Given the description of an element on the screen output the (x, y) to click on. 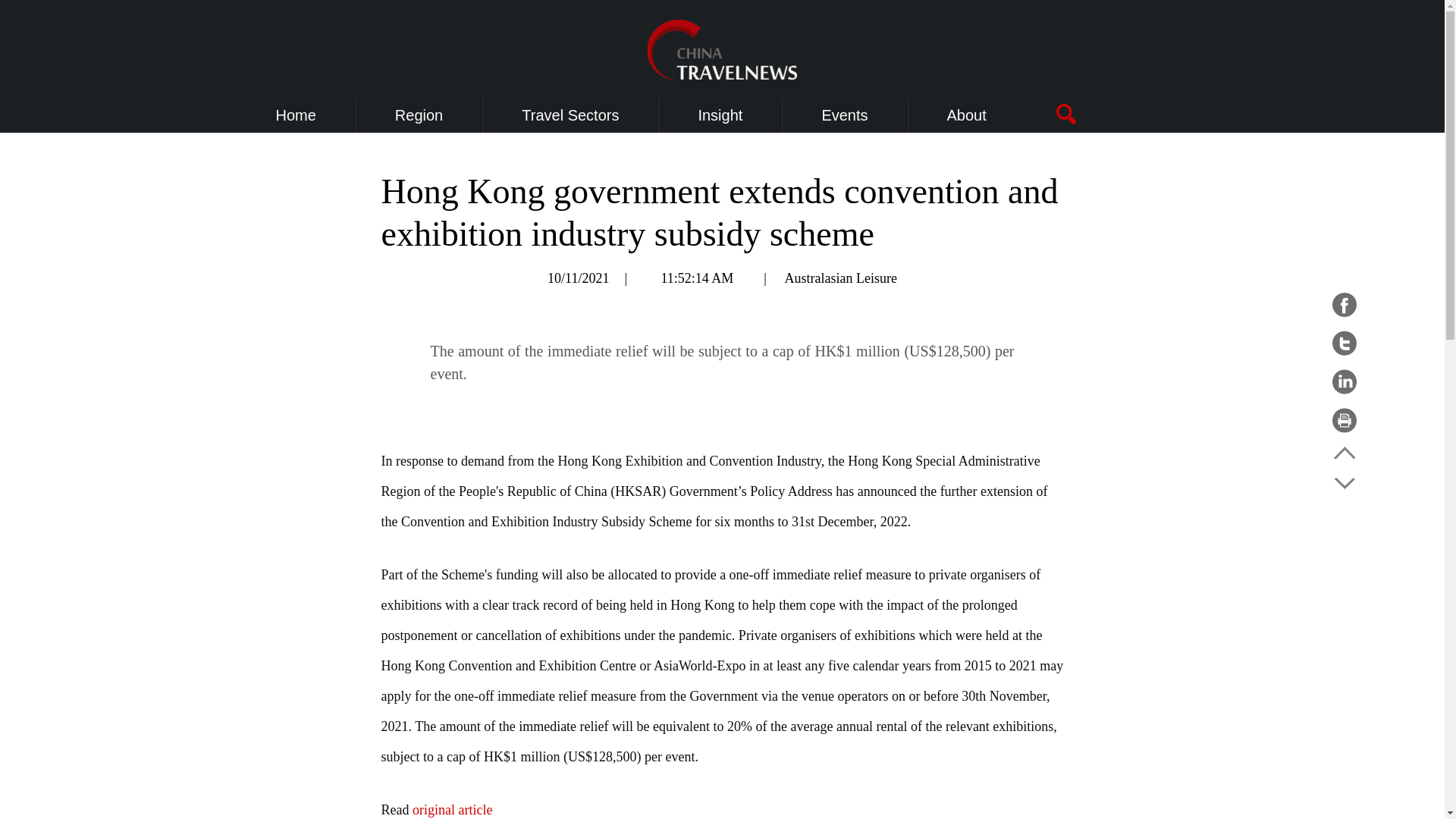
Home (295, 115)
Events (844, 115)
original article (452, 809)
About (967, 115)
